Given the description of an element on the screen output the (x, y) to click on. 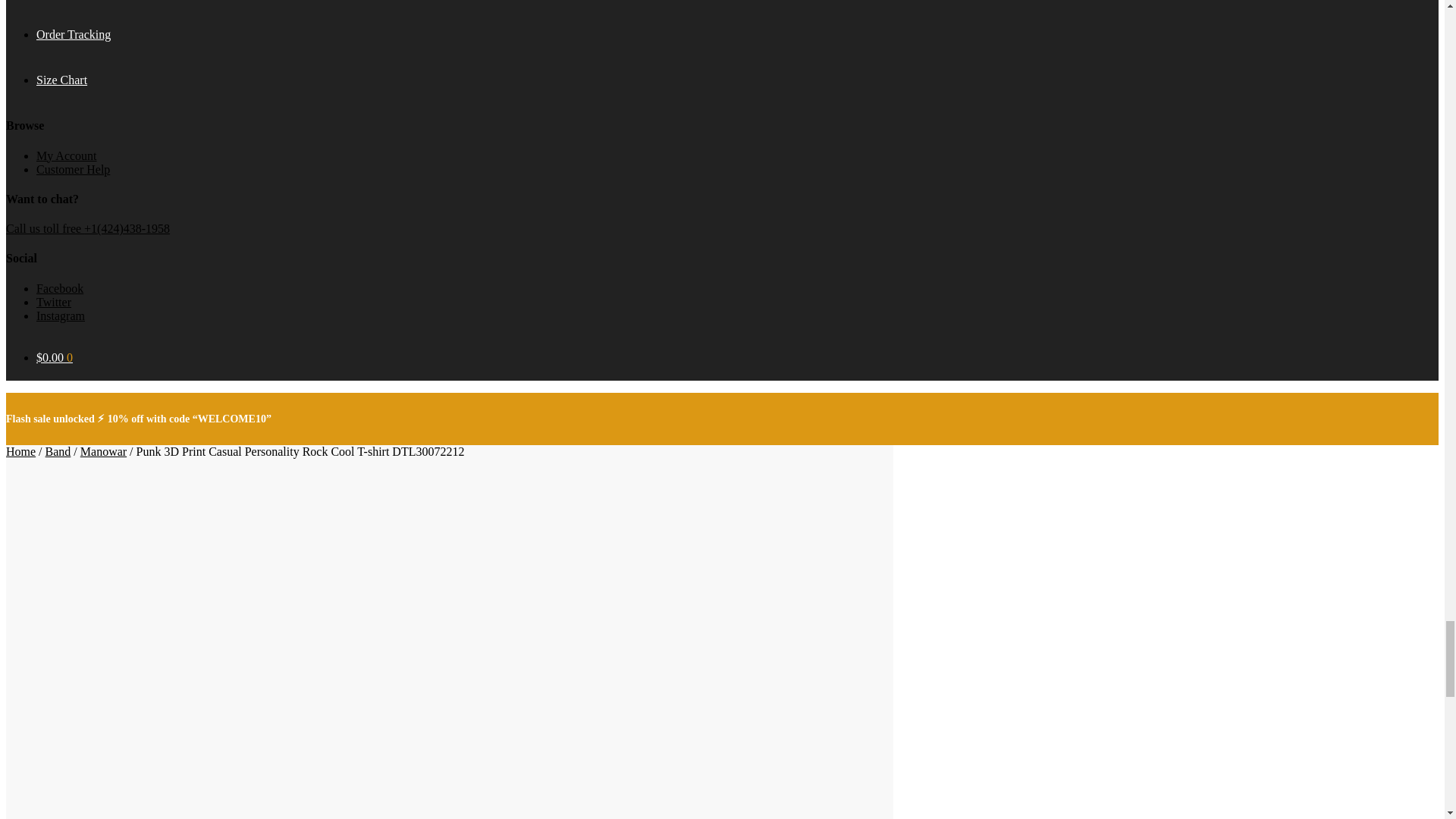
View your shopping cart (54, 357)
